Given the description of an element on the screen output the (x, y) to click on. 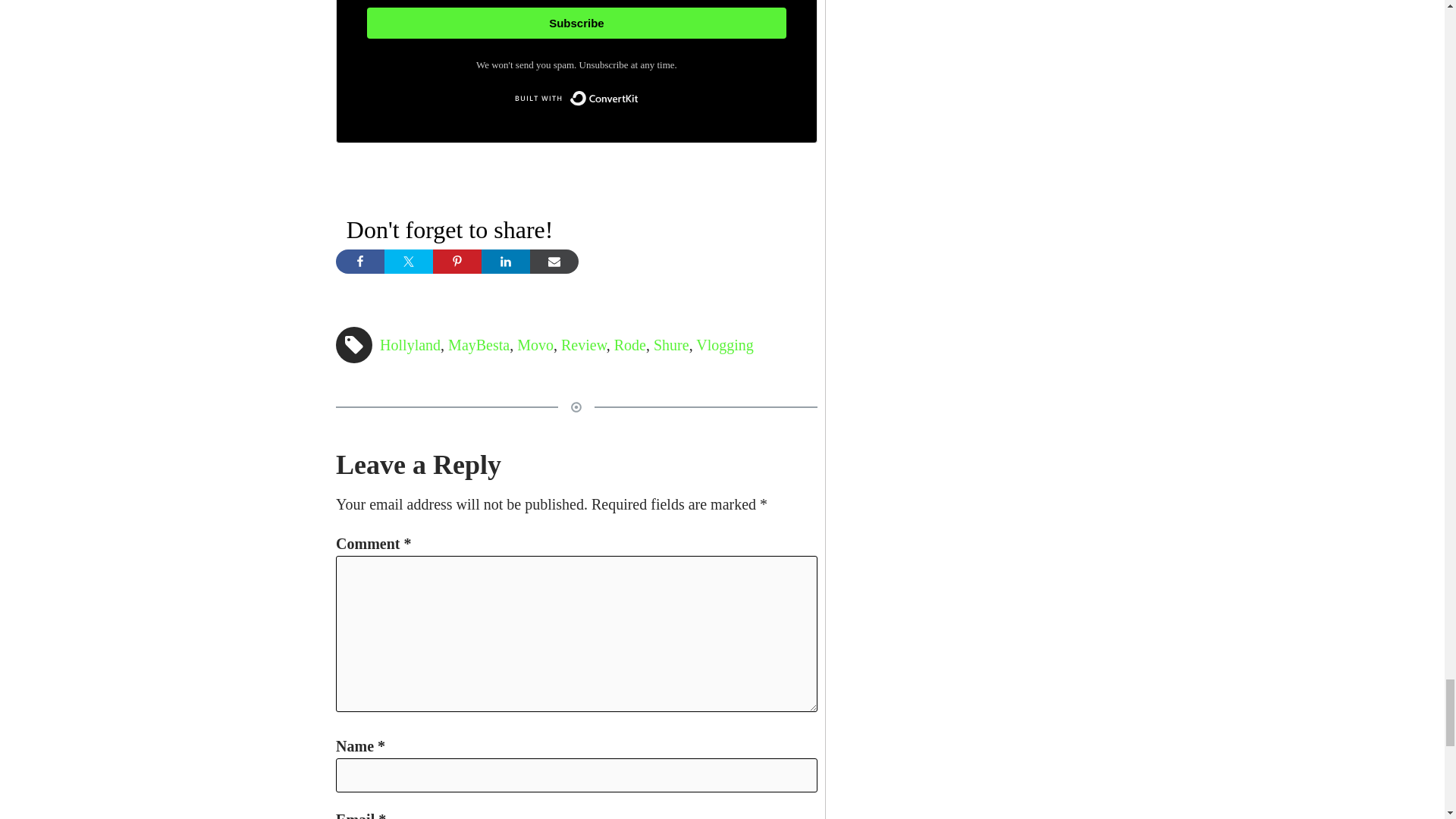
Share on Pinterest (456, 261)
Share on Facebook (360, 261)
Share on Twitter (408, 261)
Share via Email (553, 261)
Share on LinkedIn (505, 261)
